Given the description of an element on the screen output the (x, y) to click on. 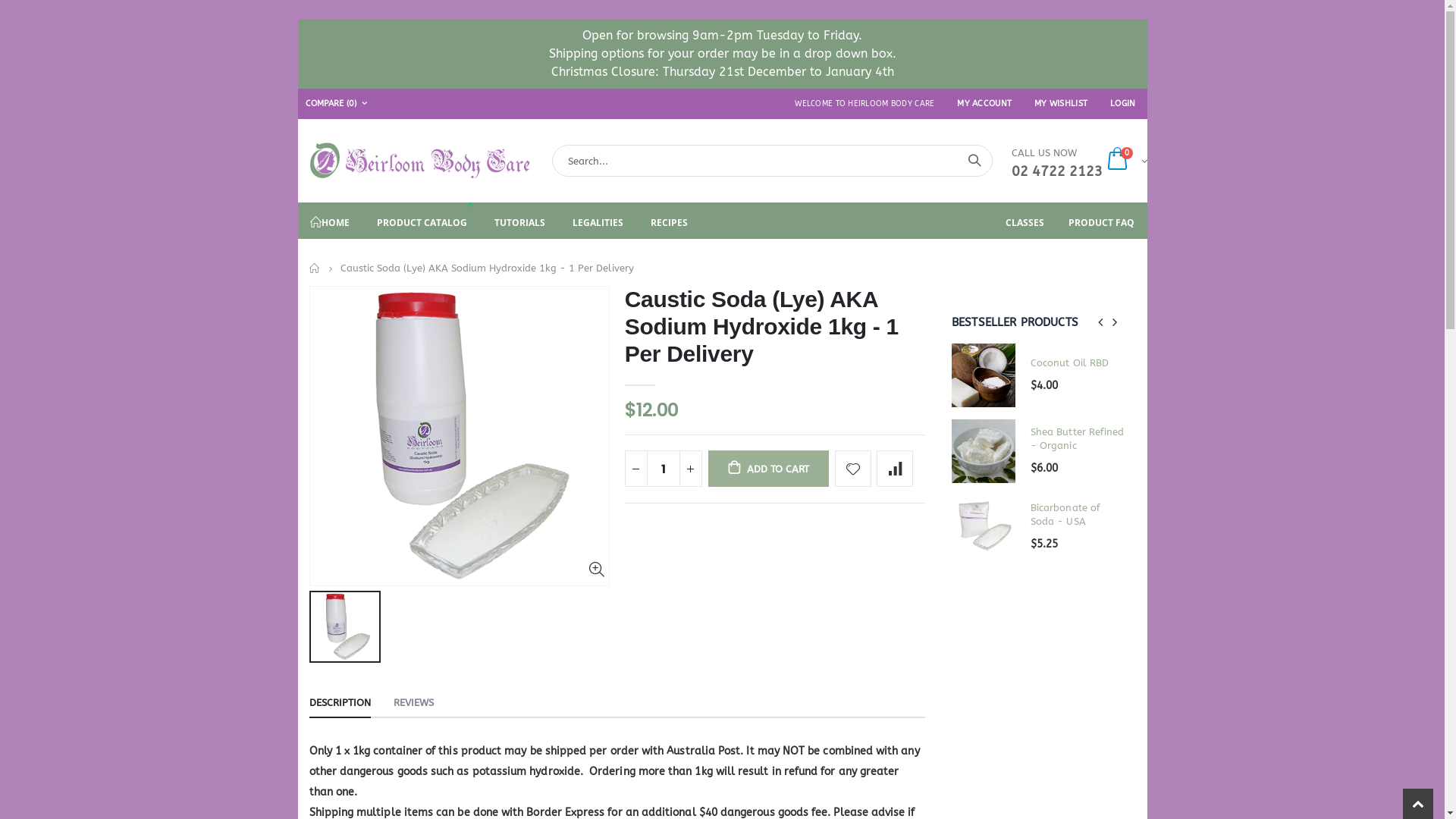
MY WISHLIST Element type: text (1060, 103)
Castor Oil - Hexane Free Element type: hover (904, 438)
Citric Acid Element type: hover (904, 514)
Home Element type: text (314, 267)
Almond Oil-Sweet Element type: hover (904, 363)
TUTORIALS Element type: text (519, 220)
Almond Oil-Sweet Element type: text (1077, 363)
CLASSES Element type: text (1024, 220)
PRODUCT FAQ Element type: text (1101, 220)
LEGALITIES Element type: text (597, 220)
Add to compare Element type: hover (894, 468)
0 Element type: text (1124, 160)
RECIPES Element type: text (668, 220)
DESCRIPTION Element type: text (339, 703)
HOME Element type: text (328, 220)
MY ACCOUNT Element type: text (984, 103)
COMPARE (0) Element type: text (336, 103)
Search Element type: text (974, 160)
Castor Oil - Hexane Free Element type: text (1077, 438)
REVIEWS Element type: text (412, 703)
Citric Acid Element type: text (1077, 514)
PRODUCT CATALOG Element type: text (421, 220)
Caustic Soda (Lye) AKA Sodium Hydroxide 1kg - 1 Per Delivery Element type: text (761, 326)
LOGIN Element type: text (1122, 103)
ADD TO CART Element type: text (768, 468)
Add to wishlist Element type: hover (852, 468)
